Given the description of an element on the screen output the (x, y) to click on. 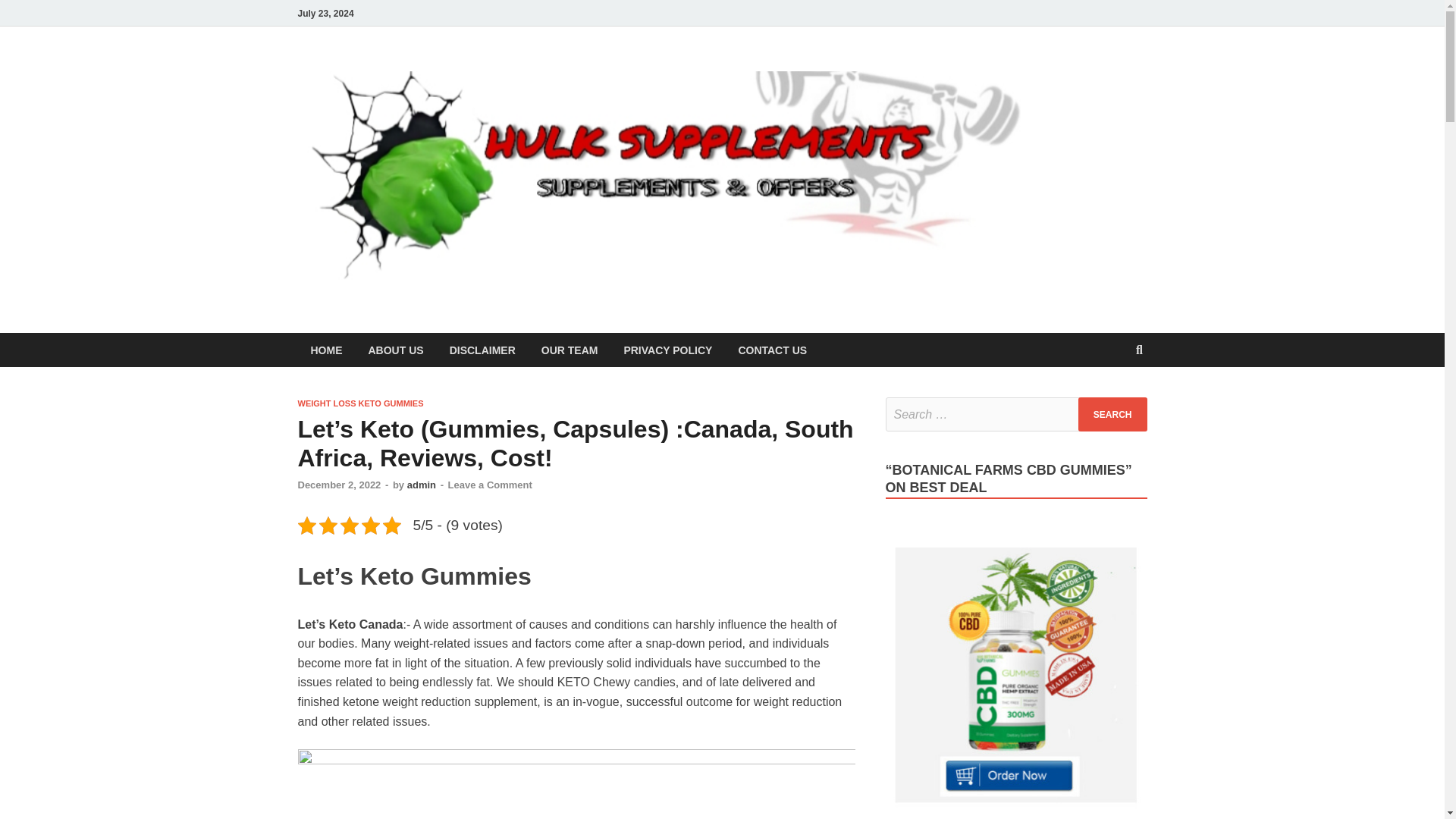
Hulk Supplements (1124, 95)
ABOUT US (395, 349)
Search (1112, 414)
WEIGHT LOSS KETO GUMMIES (360, 402)
OUR TEAM (569, 349)
PRIVACY POLICY (667, 349)
admin (421, 484)
HOME (326, 349)
DISCLAIMER (482, 349)
Leave a Comment (490, 484)
CONTACT US (772, 349)
Search (1112, 414)
December 2, 2022 (338, 484)
